Given the description of an element on the screen output the (x, y) to click on. 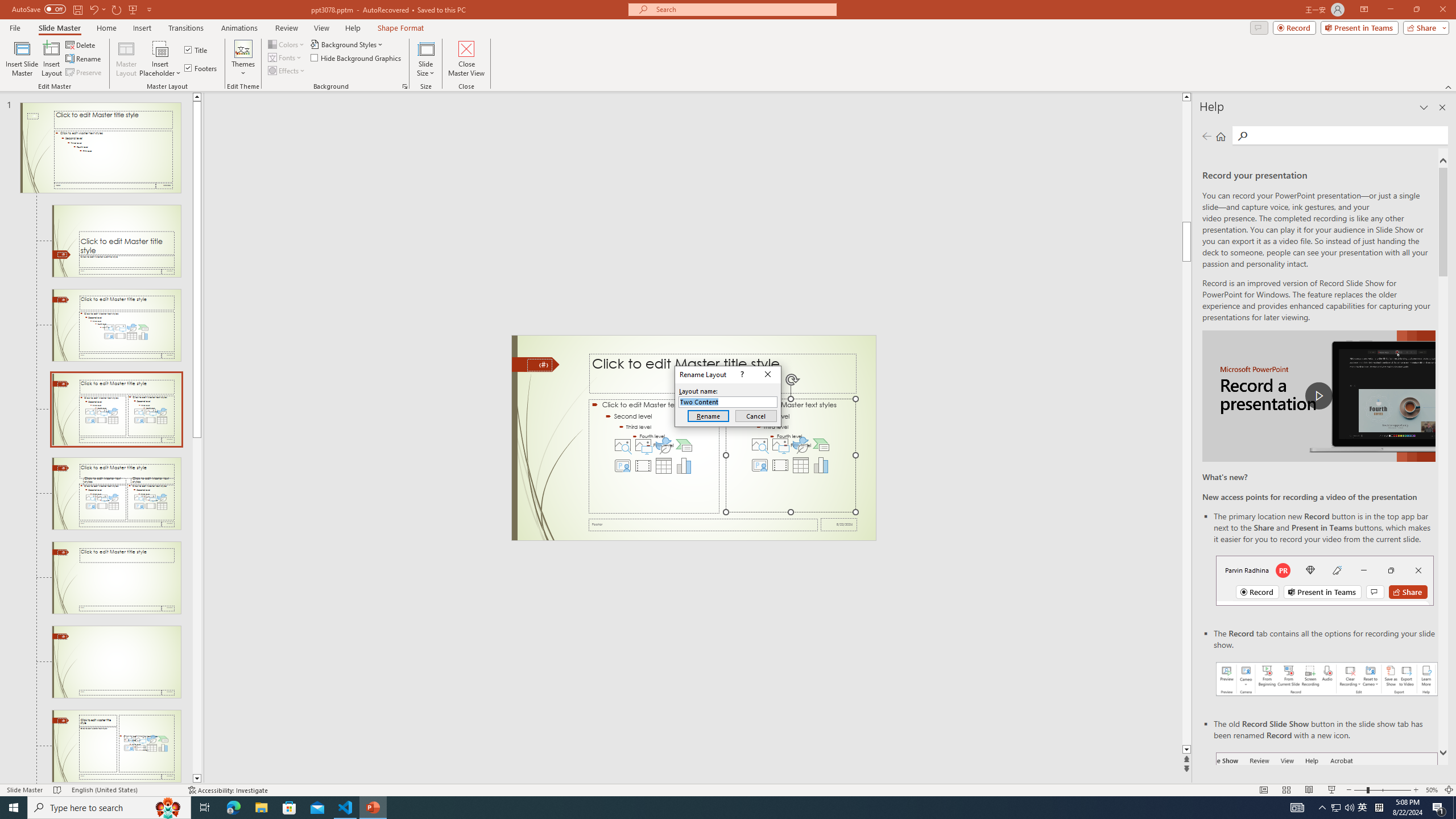
Colors (287, 44)
Background Styles (347, 44)
Master Layout... (126, 58)
Slide Blank Layout: used by no slides (116, 746)
Slide Number (539, 364)
